Given the description of an element on the screen output the (x, y) to click on. 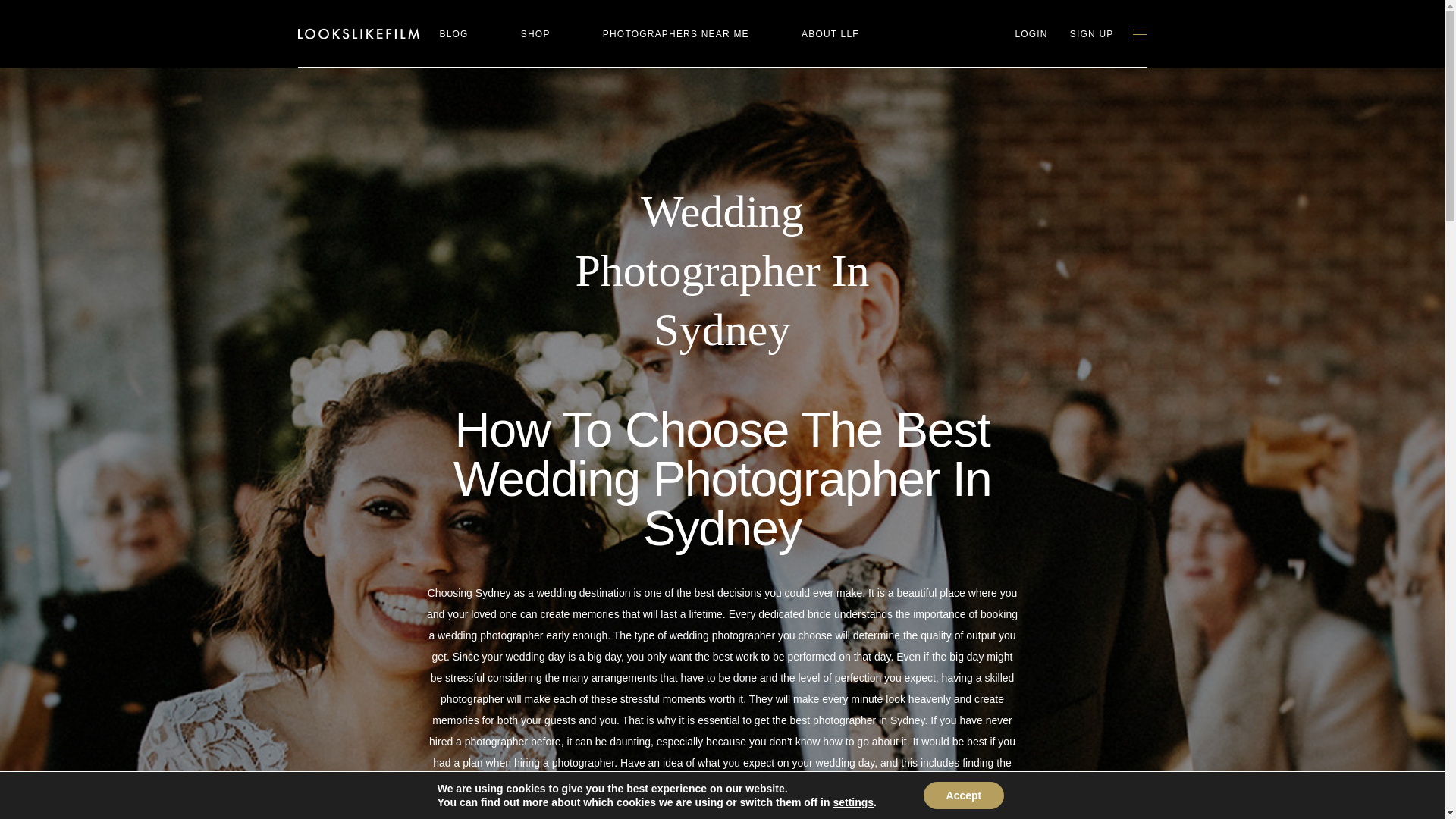
ABOUT LLF (830, 34)
PHOTOGRAPHERS NEAR ME (675, 34)
LOGIN (1030, 34)
SIGN UP (1091, 34)
BLOG (453, 34)
MENU (1139, 34)
SHOP (535, 34)
